Given the description of an element on the screen output the (x, y) to click on. 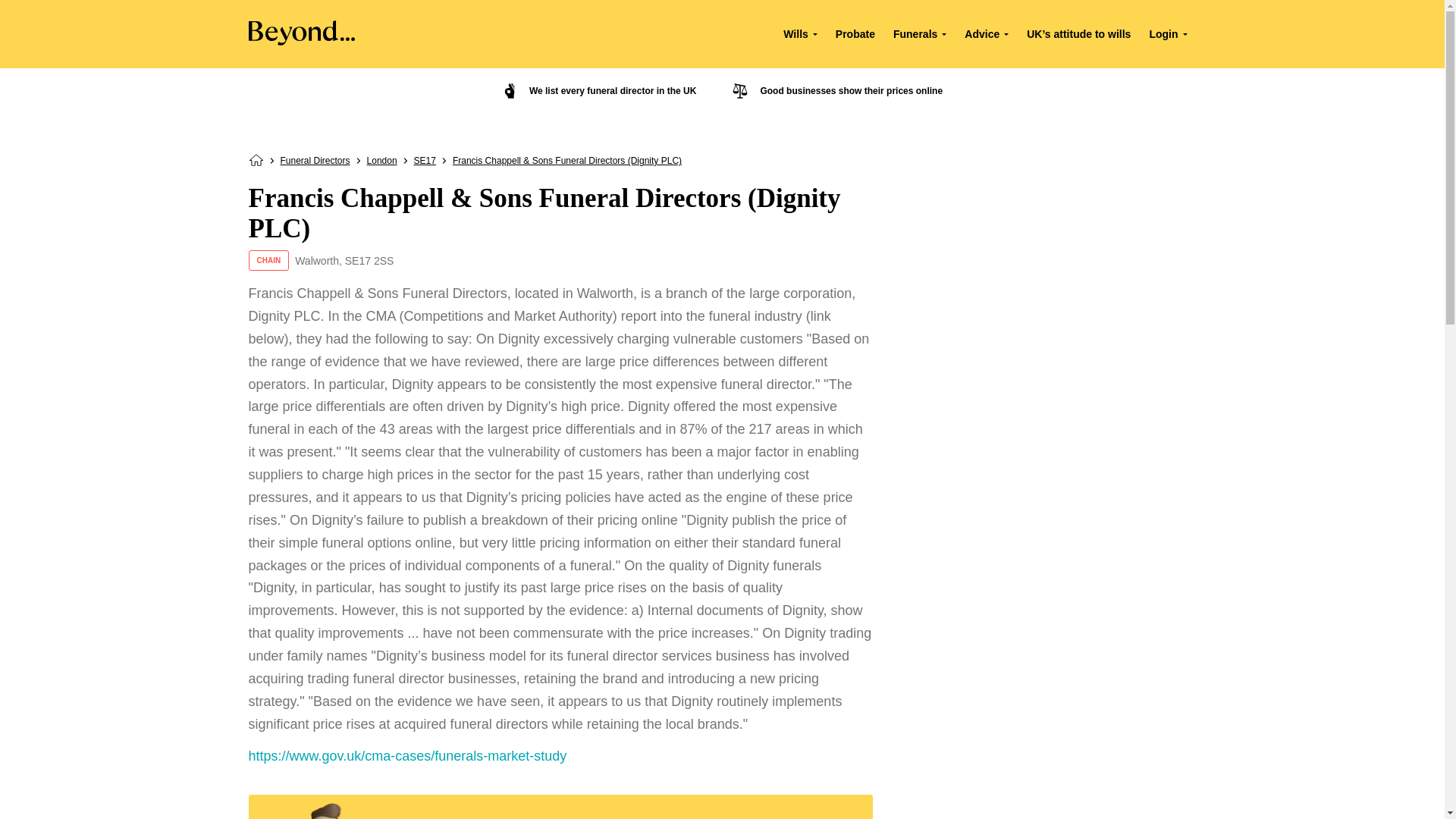
SE17 (424, 160)
Beyond (301, 41)
Back to homepage (255, 163)
Homepage (255, 163)
SE17 (424, 160)
London (381, 160)
Probate (855, 33)
Funeral Directors (315, 160)
London (381, 160)
Funeral Directors (315, 160)
